Given the description of an element on the screen output the (x, y) to click on. 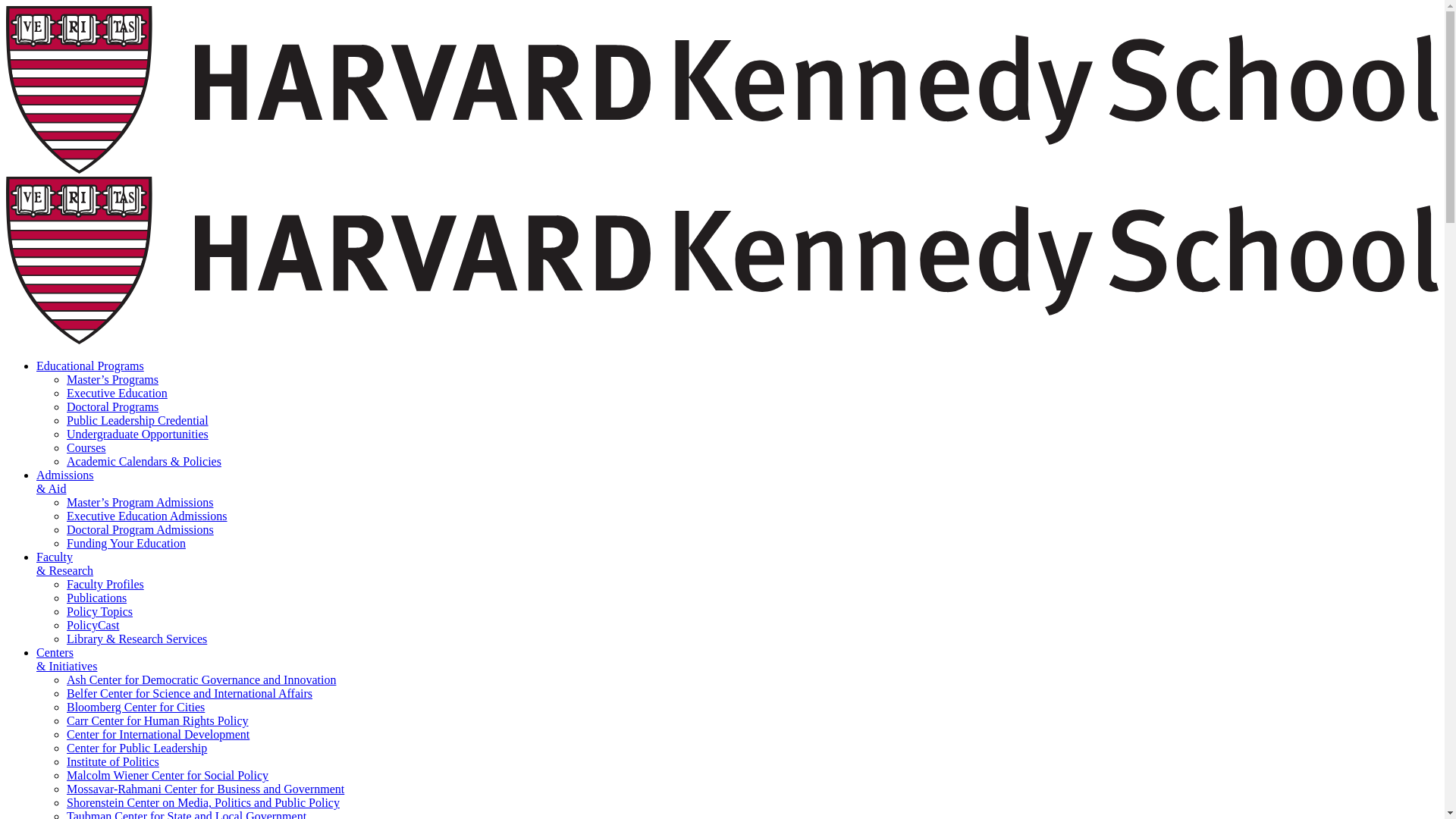
Funding Your Education (126, 543)
Ash Center for Democratic Governance and Innovation (201, 679)
Policy Topics (99, 611)
Public Leadership Credential (137, 420)
Doctoral Program Admissions (140, 529)
Publications at HKS (96, 597)
Malcolm Wiener Center for Social Policy (166, 775)
Faculty Profiles (105, 584)
Doctoral Programs (112, 406)
Educational Programs (90, 365)
Institute of Politics (112, 761)
Carr Center for Human Rights Policy (157, 720)
Publications (96, 597)
Executive Education Admissions (146, 515)
